Given the description of an element on the screen output the (x, y) to click on. 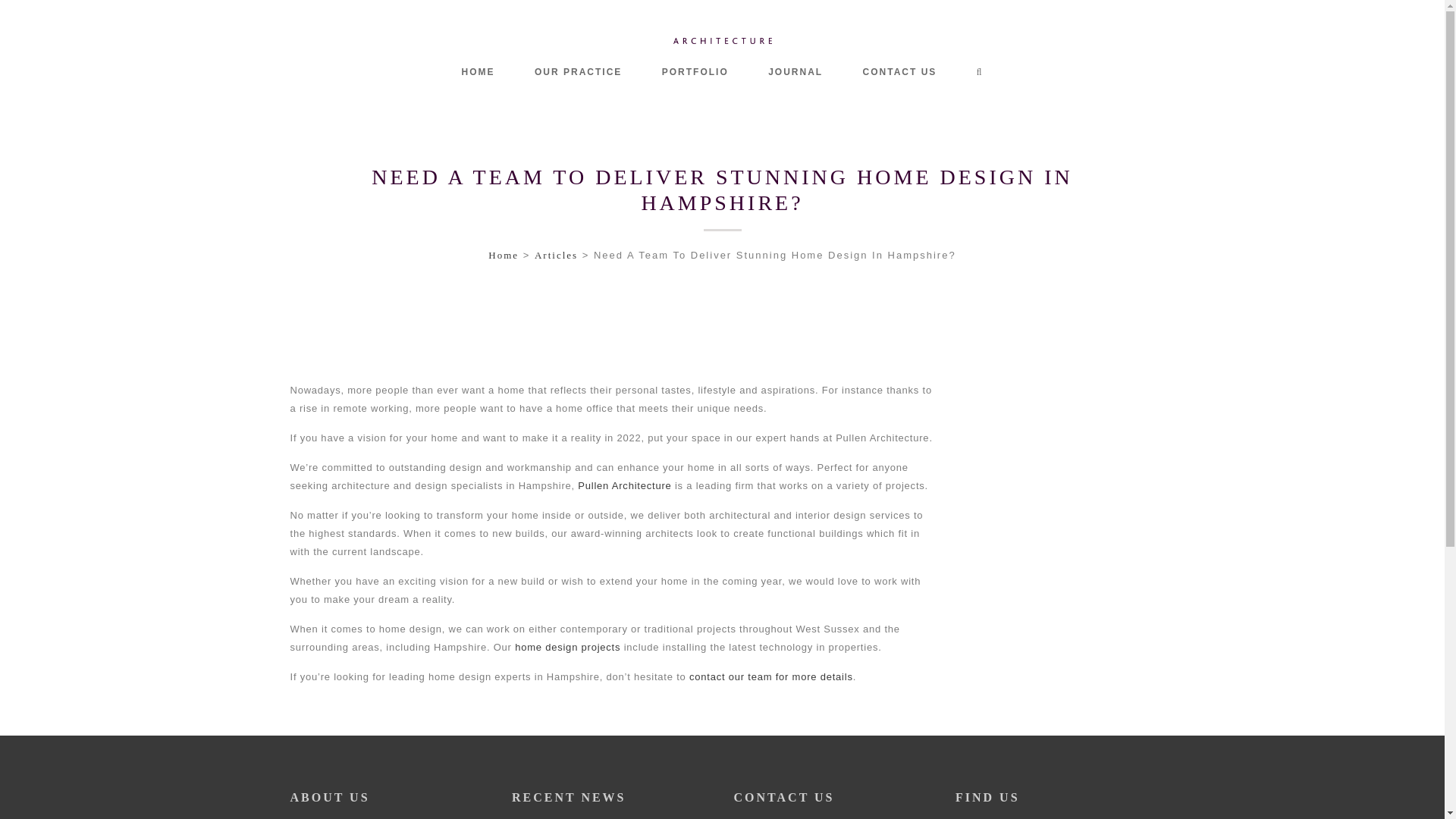
PORTFOLIO (721, 71)
Articles (694, 71)
HOME (556, 255)
CONTACT US (478, 71)
OUR PRACTICE (899, 71)
JOURNAL (578, 71)
contact our team for more details (795, 71)
NEED A TEAM TO DELIVER STUNNING HOME DESIGN IN HAMPSHIRE? (770, 676)
